Given the description of an element on the screen output the (x, y) to click on. 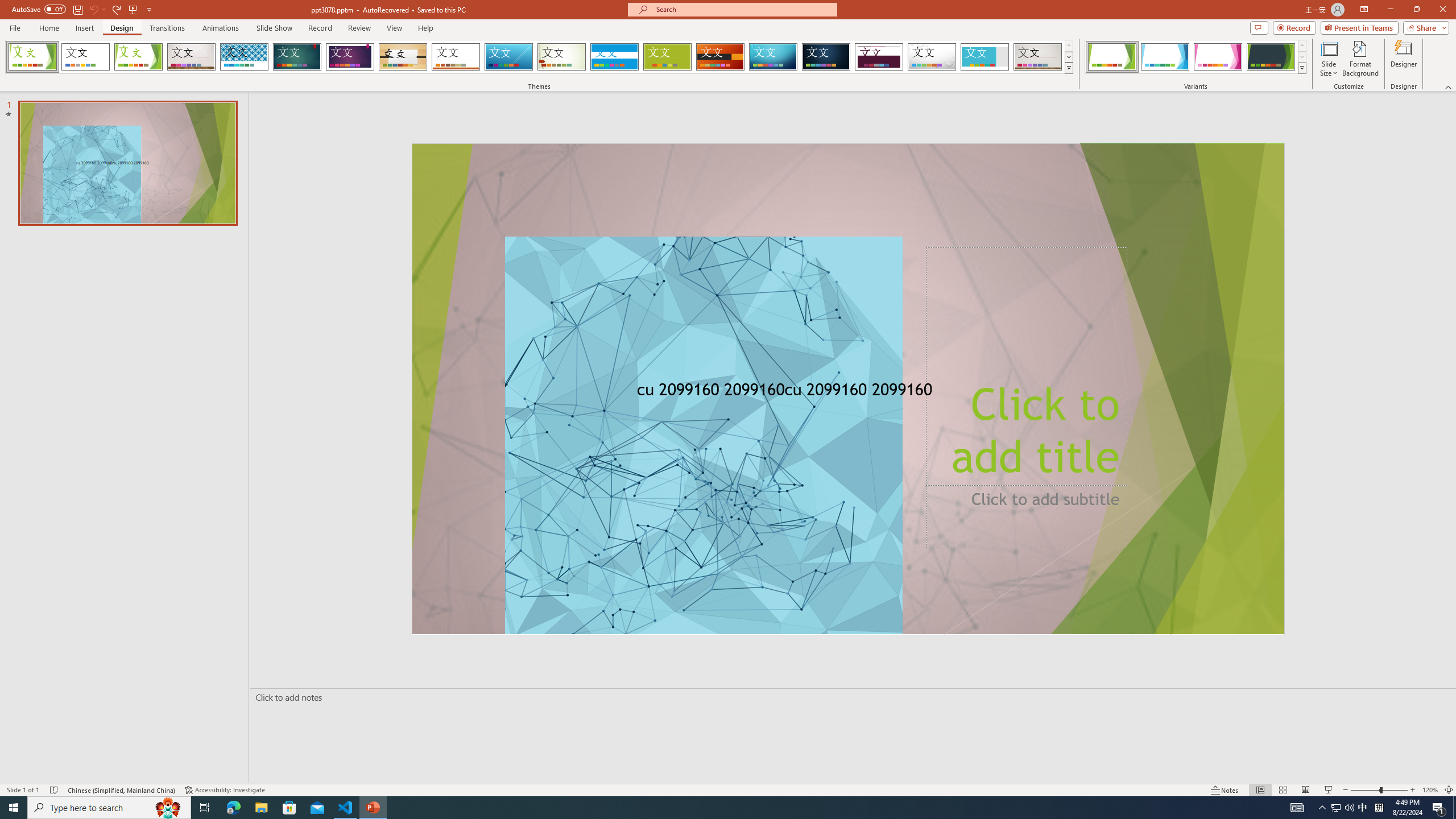
Damask Loading Preview... (826, 56)
Facet Variant 2 (1164, 56)
Frame Loading Preview... (984, 56)
Ion Boardroom Loading Preview... (350, 56)
